Given the description of an element on the screen output the (x, y) to click on. 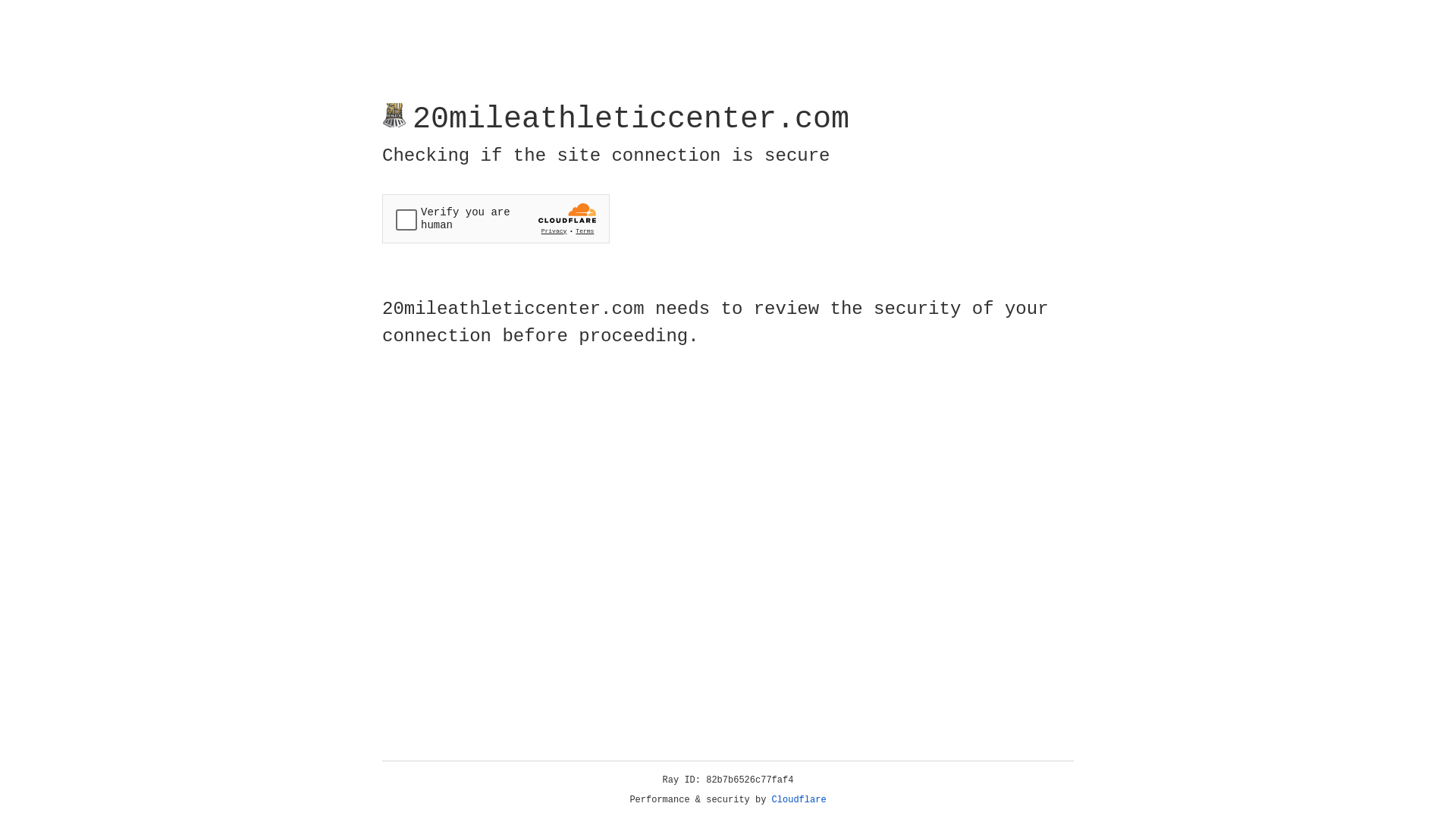
Cloudflare Element type: text (798, 799)
Widget containing a Cloudflare security challenge Element type: hover (495, 218)
